Given the description of an element on the screen output the (x, y) to click on. 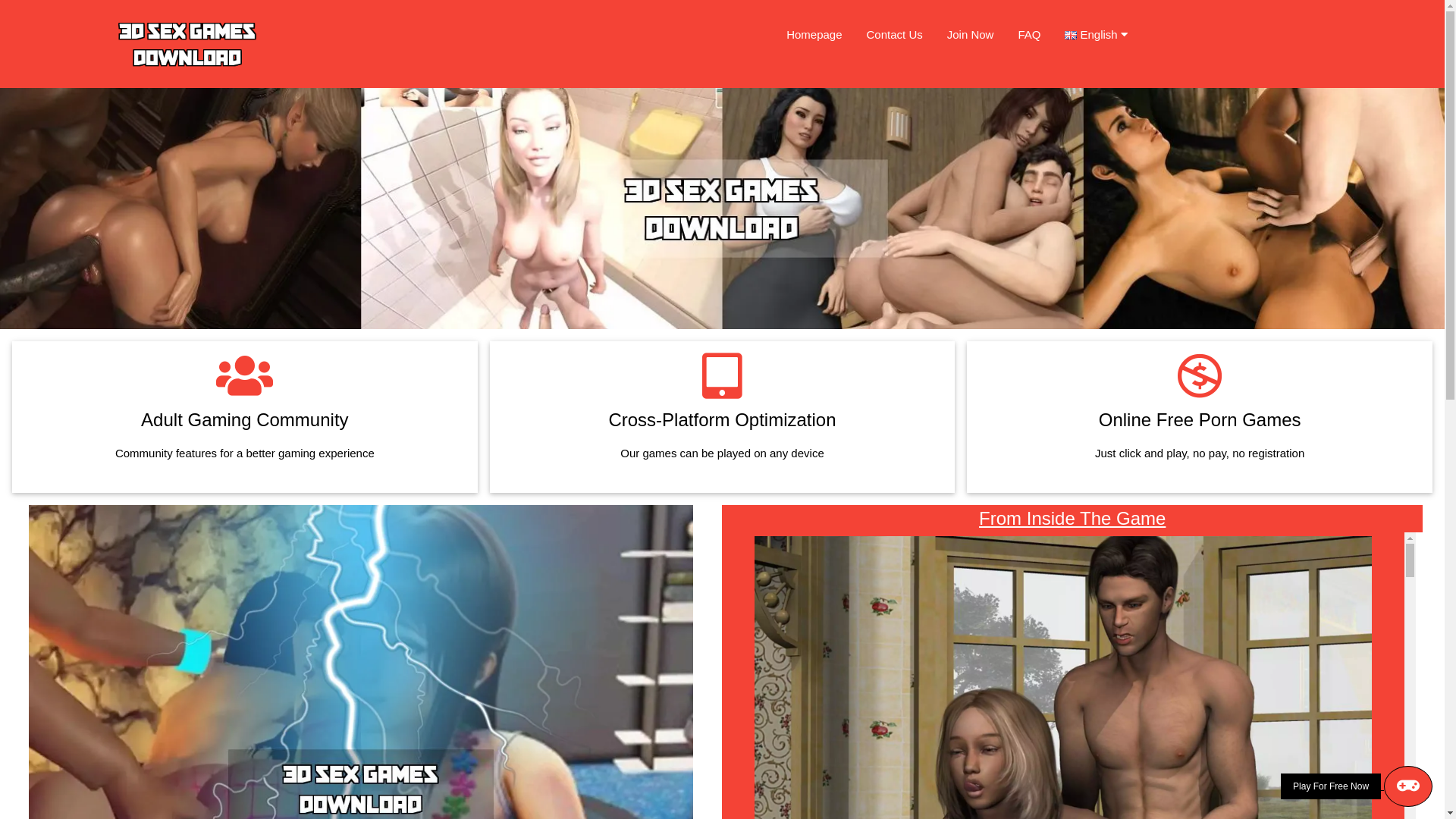
Play For Free Now Element type: text (1356, 785)
Join Now Element type: text (970, 35)
Contact Us Element type: text (894, 35)
FAQ Element type: text (1028, 35)
English Element type: text (1101, 35)
Homepage Element type: text (813, 35)
